Given the description of an element on the screen output the (x, y) to click on. 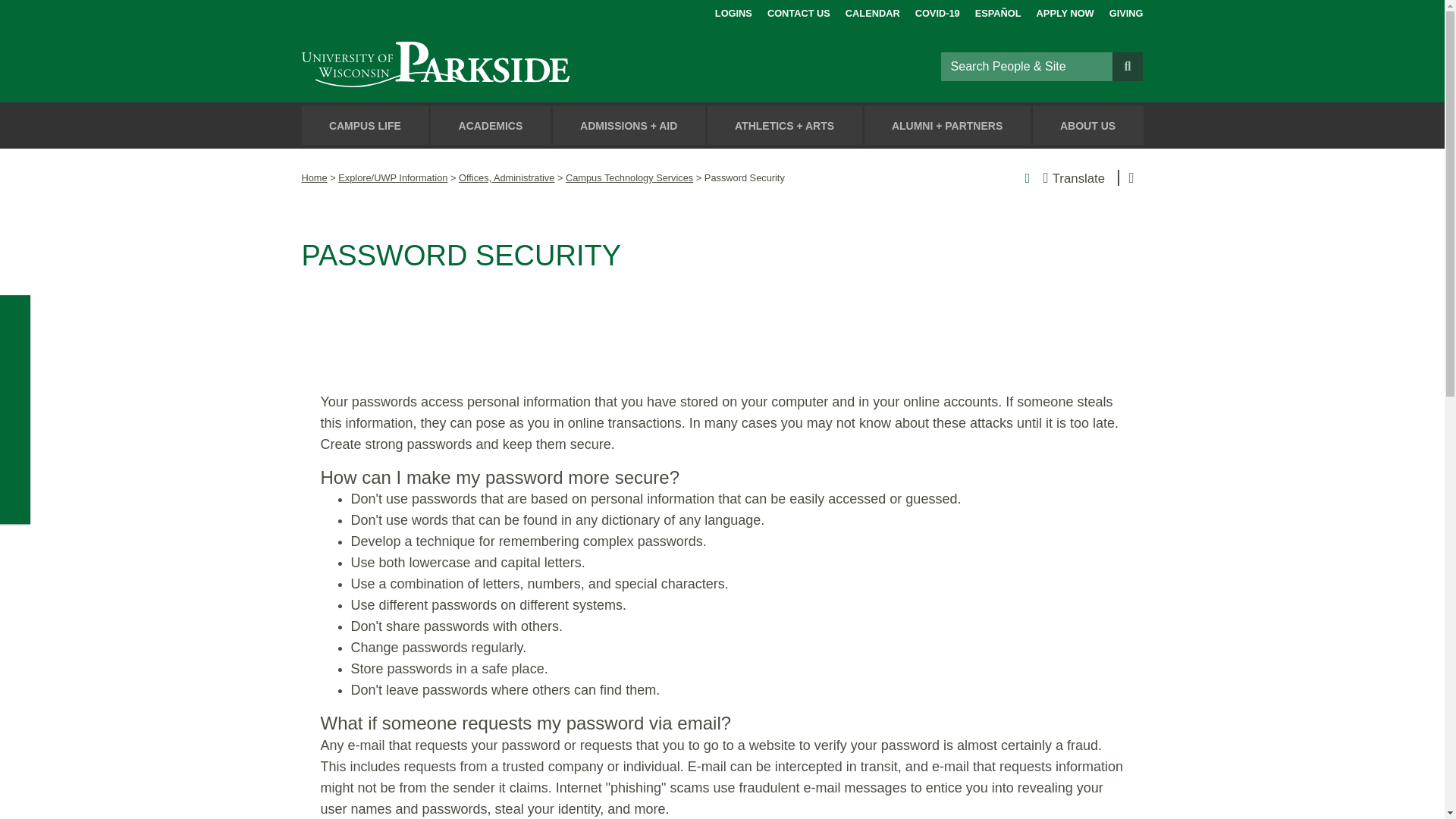
CALENDAR (872, 11)
CONTACT US (798, 11)
University of Wisconsin-Parkside (470, 66)
University of Wisconsin-Parkside (470, 66)
Print (1027, 178)
LOGINS (733, 11)
Share (1131, 177)
CAMPUS LIFE (365, 125)
APPLY NOW (1065, 11)
Skip to main content (18, 14)
Translate (1045, 177)
Submit (1127, 65)
GIVING (1125, 11)
COVID-19 (937, 11)
